Given the description of an element on the screen output the (x, y) to click on. 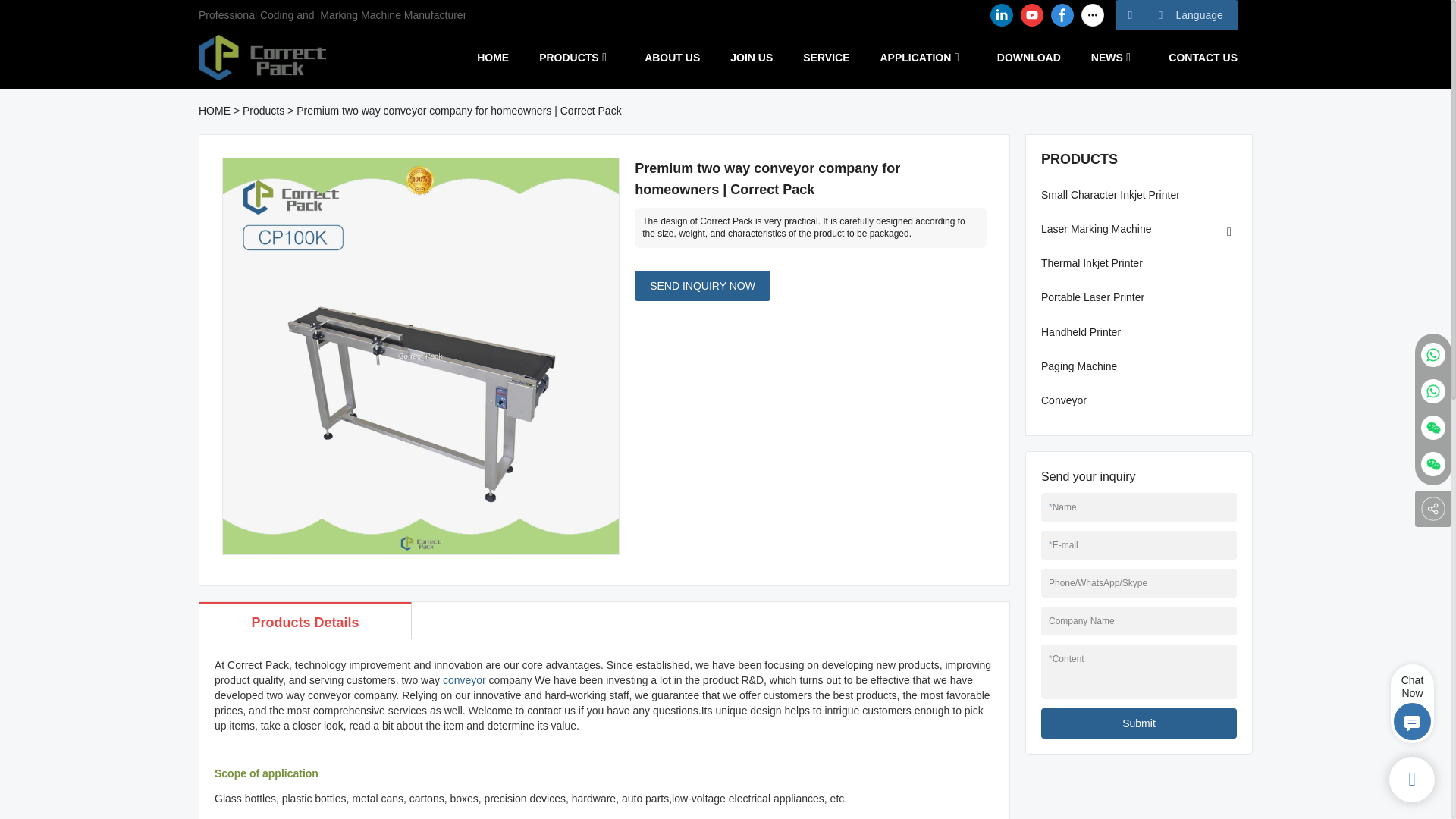
conveyor (464, 680)
youtube (1031, 15)
linkedin (1001, 15)
JOIN US (751, 57)
HOME (492, 57)
APPLICATION (914, 57)
facebook (1061, 15)
ABOUT US (672, 57)
SERVICE (825, 57)
PRODUCTS (568, 57)
